Given the description of an element on the screen output the (x, y) to click on. 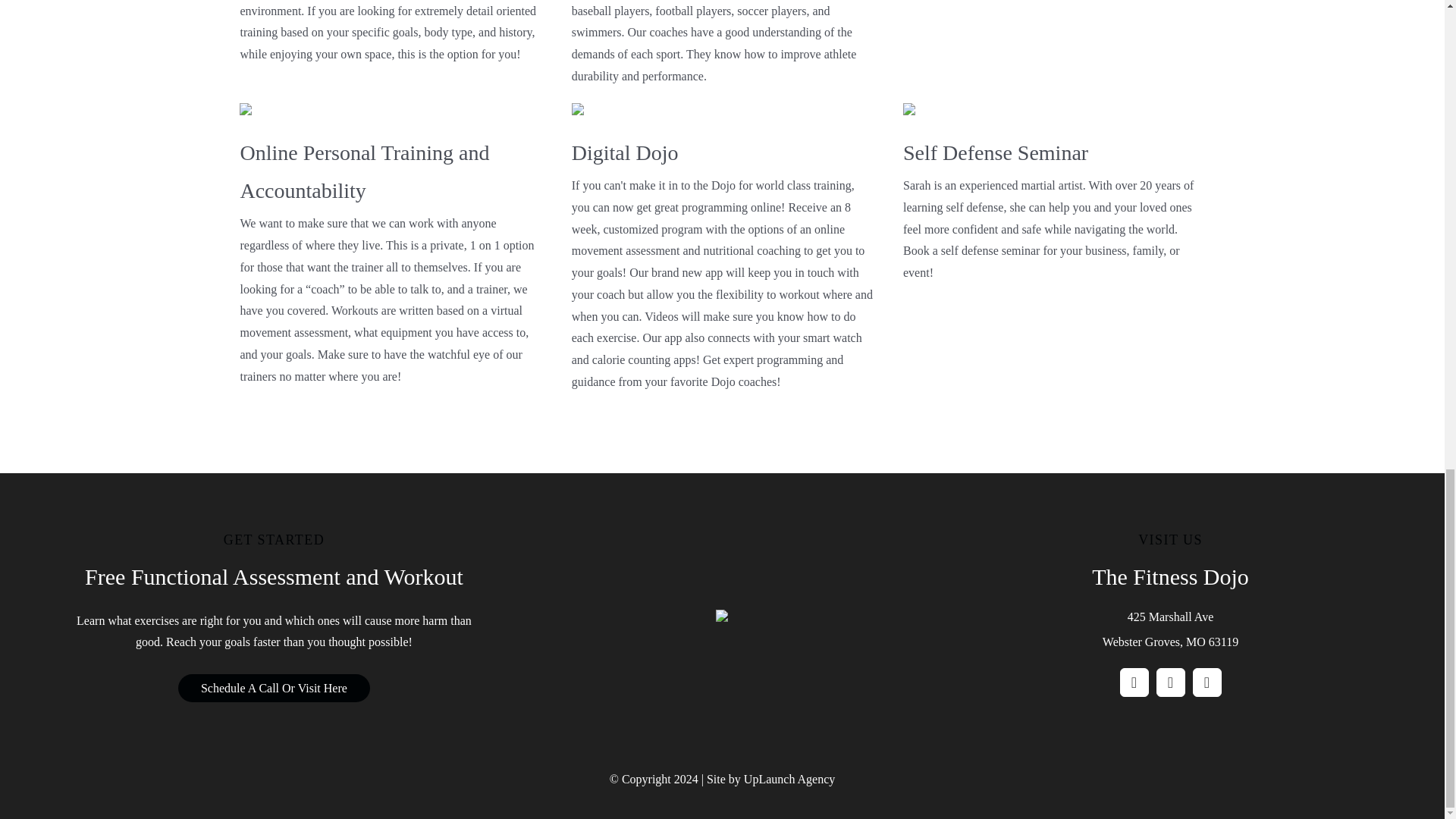
Schedule A Call Or Visit Here (273, 687)
Facebook (1133, 682)
Phone (1206, 682)
Instagram (1170, 682)
